Given the description of an element on the screen output the (x, y) to click on. 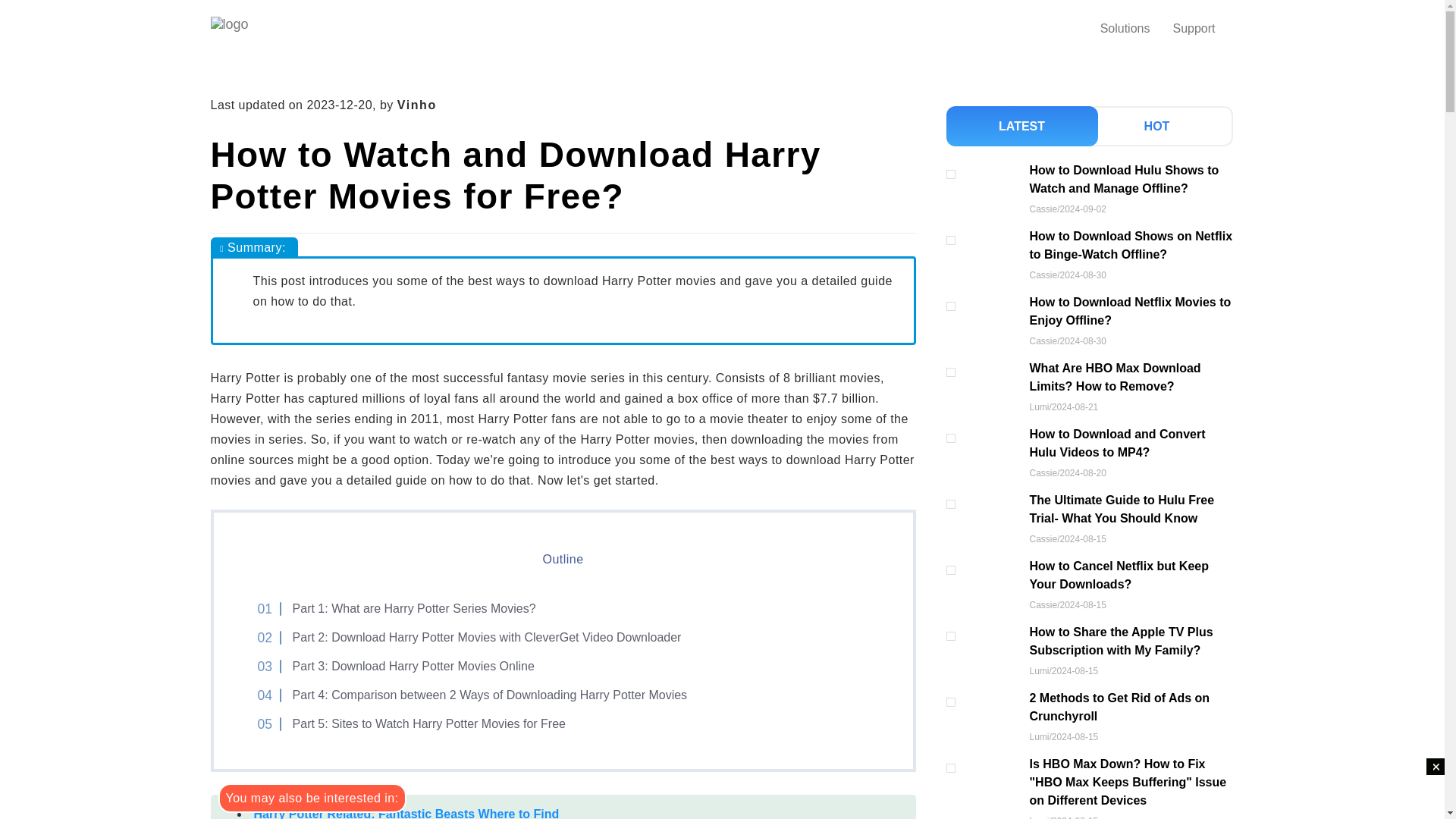
Part 5: Sites to Watch Harry Potter Movies for Free (420, 723)
Part 3: Download Harry Potter Movies Online (404, 666)
leawo.org (260, 28)
LATEST (1021, 126)
Support (1193, 28)
Solutions (1125, 28)
Harry Potter Related: Fantastic Beasts Where to Find (406, 813)
Part 1: What are Harry Potter Series Movies? (405, 608)
